Given the description of an element on the screen output the (x, y) to click on. 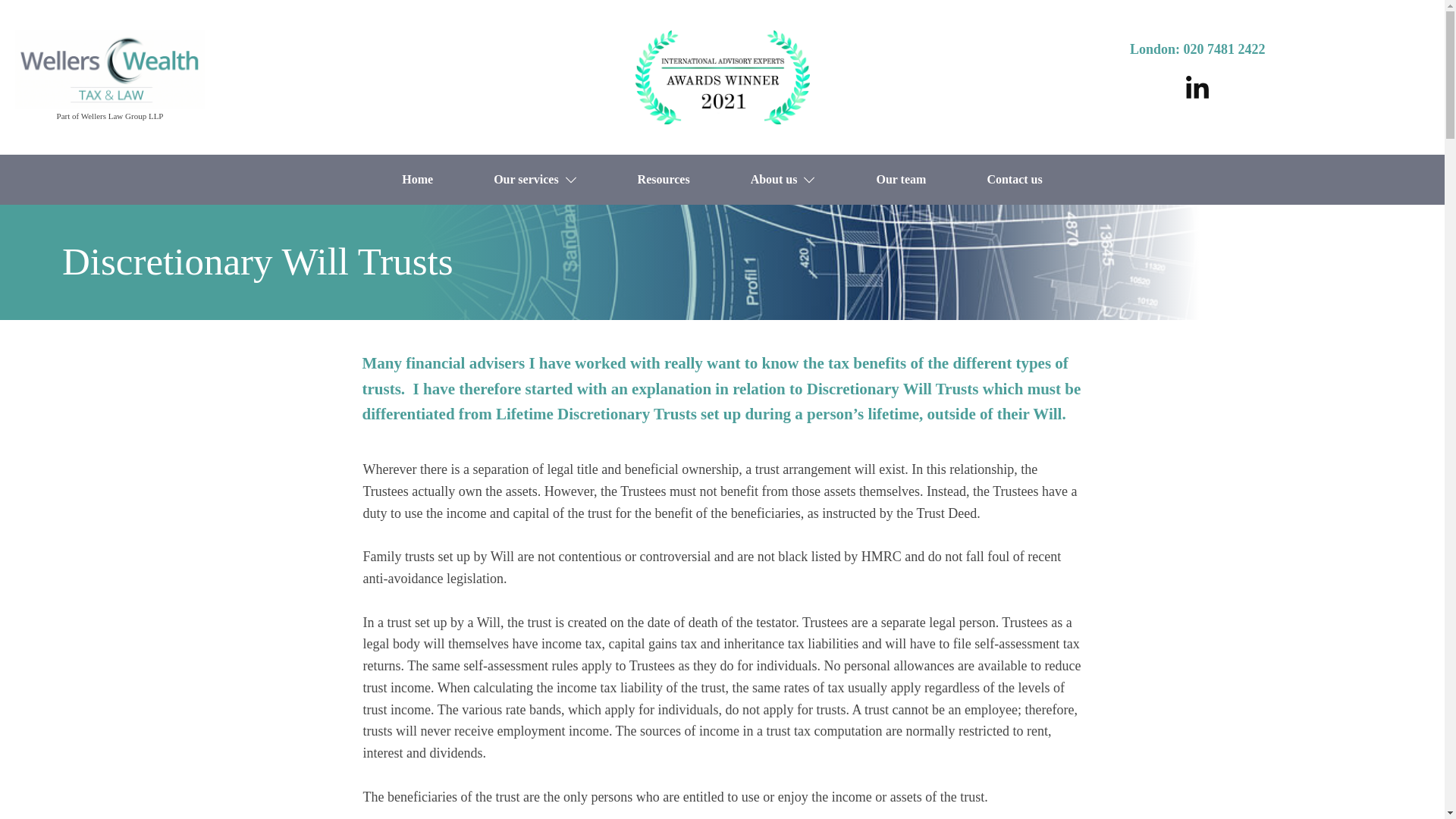
Contact us (1014, 179)
London: 020 7481 2422 (1197, 48)
Our services (534, 179)
About us (783, 179)
Home (416, 179)
Our team (901, 179)
Resources (663, 179)
